Given the description of an element on the screen output the (x, y) to click on. 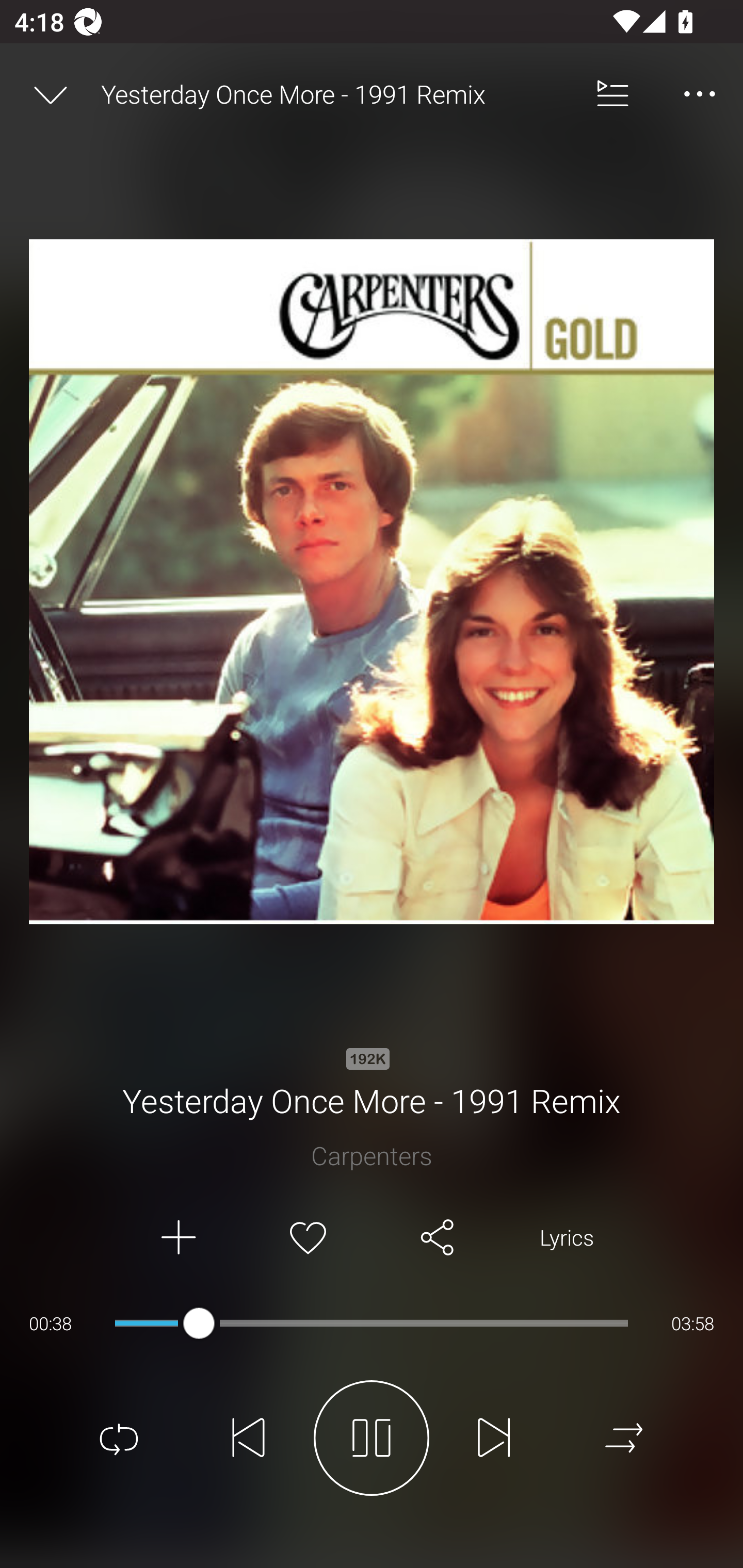
Yesterday Once More (378, 92)
Clear query (699, 92)
Back,outside of the list (57, 93)
Yesterday Once More - 1991 Remix (335, 93)
Carpenters (371, 1155)
加入到新歌單 (177, 1237)
加入收藏, 未加入 (307, 1237)
Lyrics (566, 1237)
暫停播放 (371, 1437)
不重複播放 (118, 1438)
播放前一首 (248, 1438)
播放下一首 (494, 1438)
循序播放 (624, 1438)
